Given the description of an element on the screen output the (x, y) to click on. 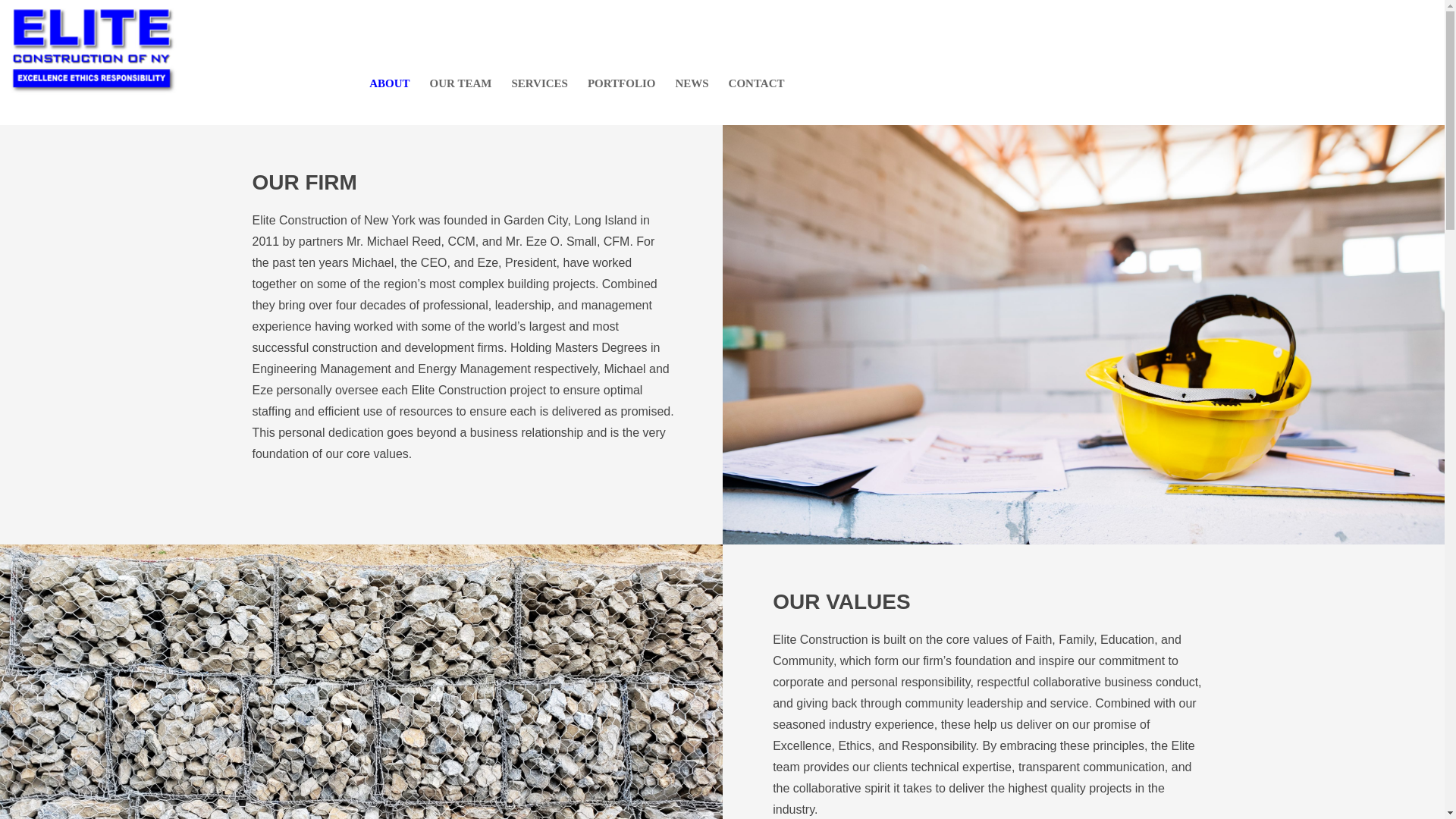
SERVICES (539, 82)
NEWS (691, 82)
PORTFOLIO (621, 82)
ABOUT (389, 82)
OUR TEAM (461, 82)
CONTACT (756, 82)
